Given the description of an element on the screen output the (x, y) to click on. 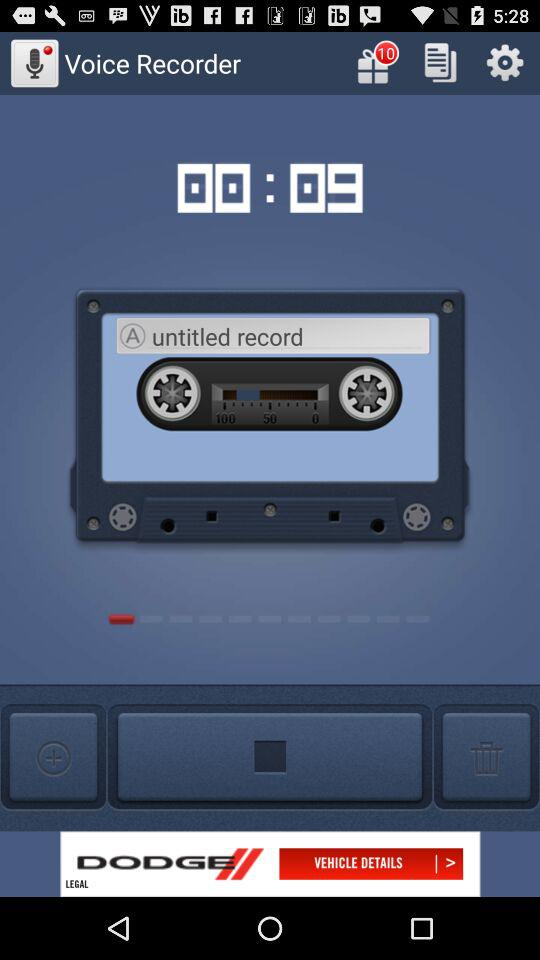
delete (486, 757)
